Given the description of an element on the screen output the (x, y) to click on. 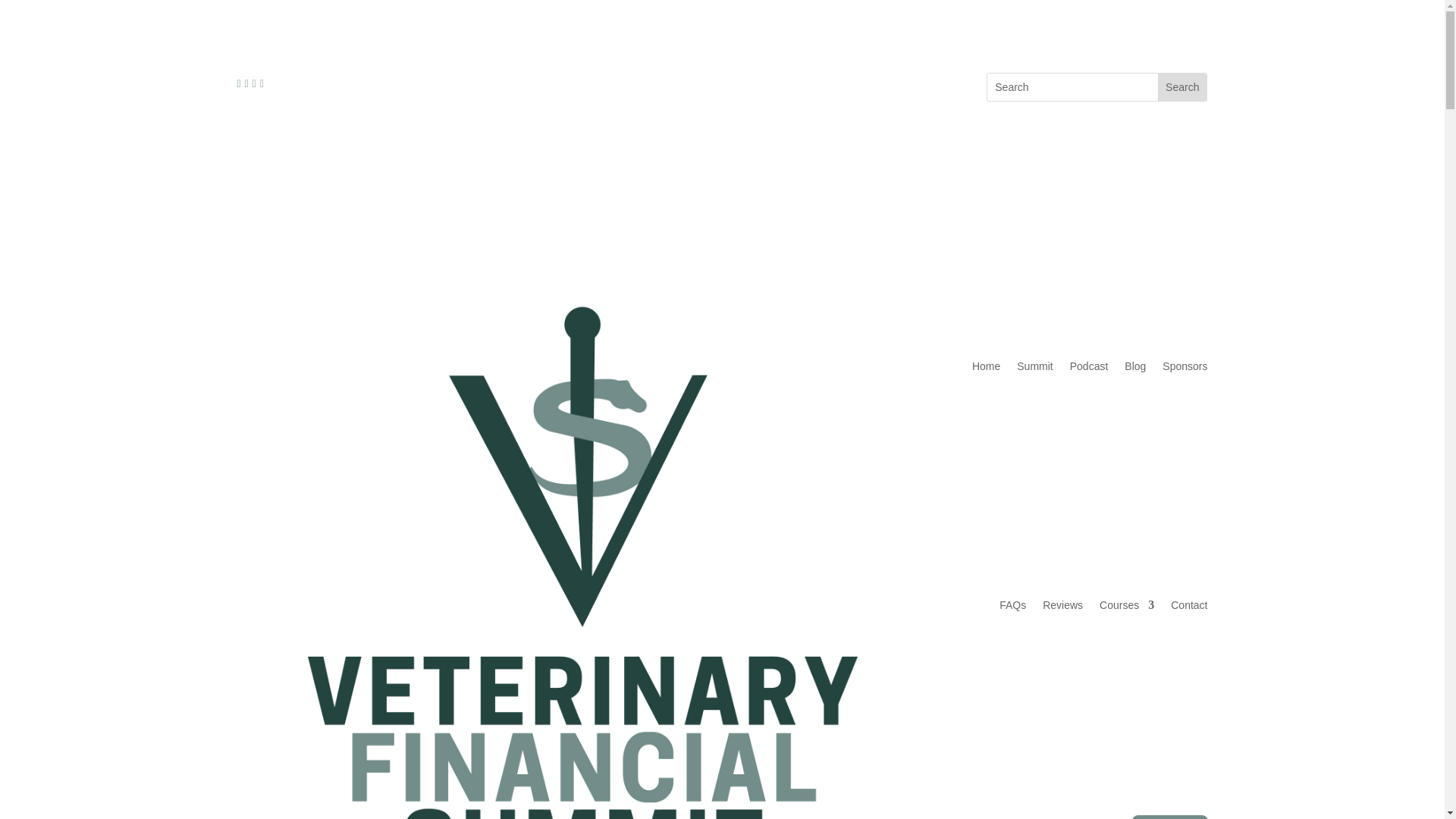
Search (1182, 86)
Search (1182, 86)
Search (1182, 86)
Sign Up (1170, 816)
Courses (1126, 604)
